Given the description of an element on the screen output the (x, y) to click on. 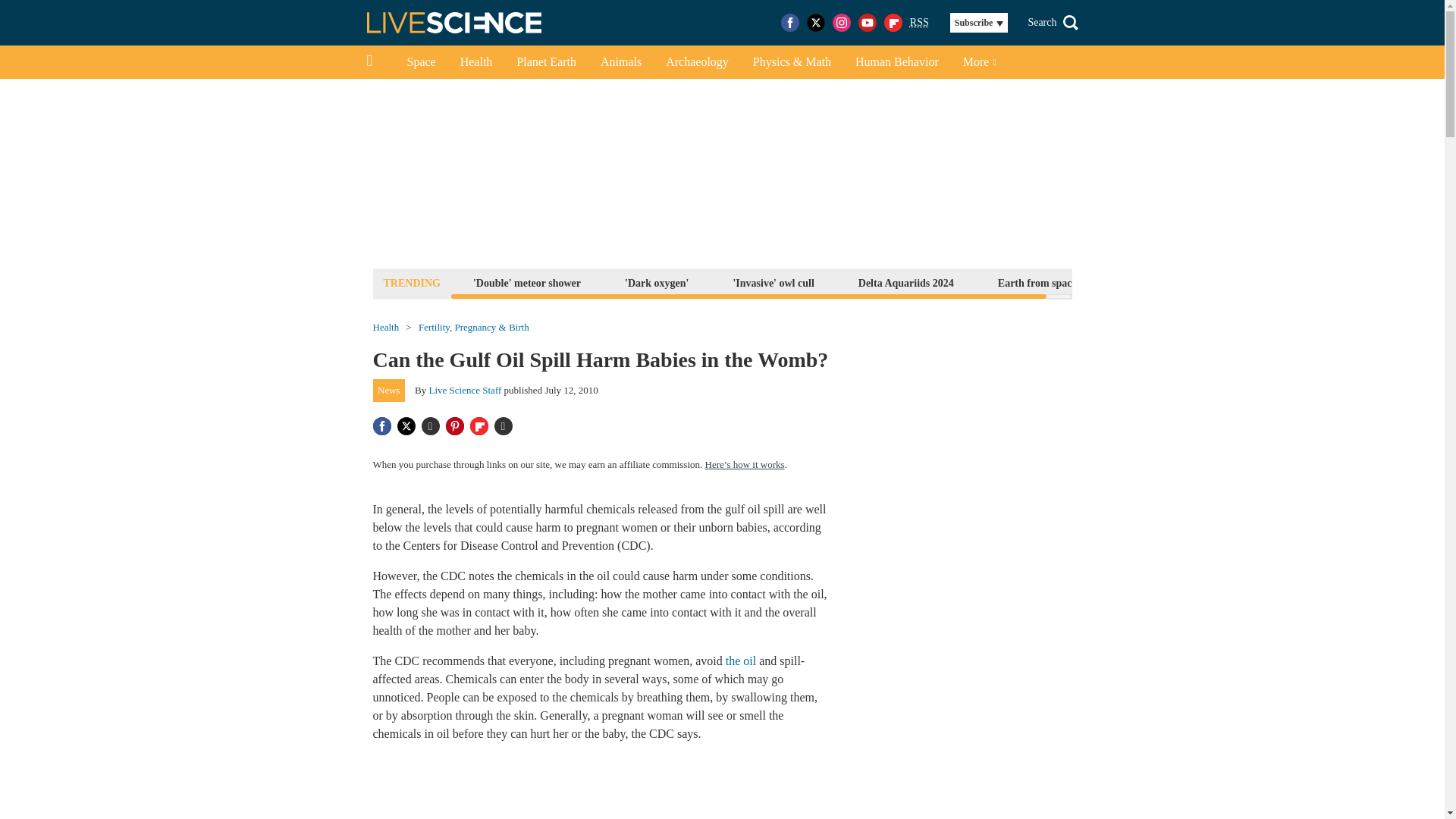
Planet Earth (545, 61)
Human Behavior (896, 61)
Live Science Staff (465, 389)
'Invasive' owl cull (772, 282)
RSS (919, 22)
Space (420, 61)
Earth from space (1036, 282)
News (389, 390)
Archaeology (697, 61)
Animals (620, 61)
Health (476, 61)
'Dark oxygen' (657, 282)
'Double' meteor shower (526, 282)
Delta Aquariids 2024 (906, 282)
Really Simple Syndication (919, 21)
